Given the description of an element on the screen output the (x, y) to click on. 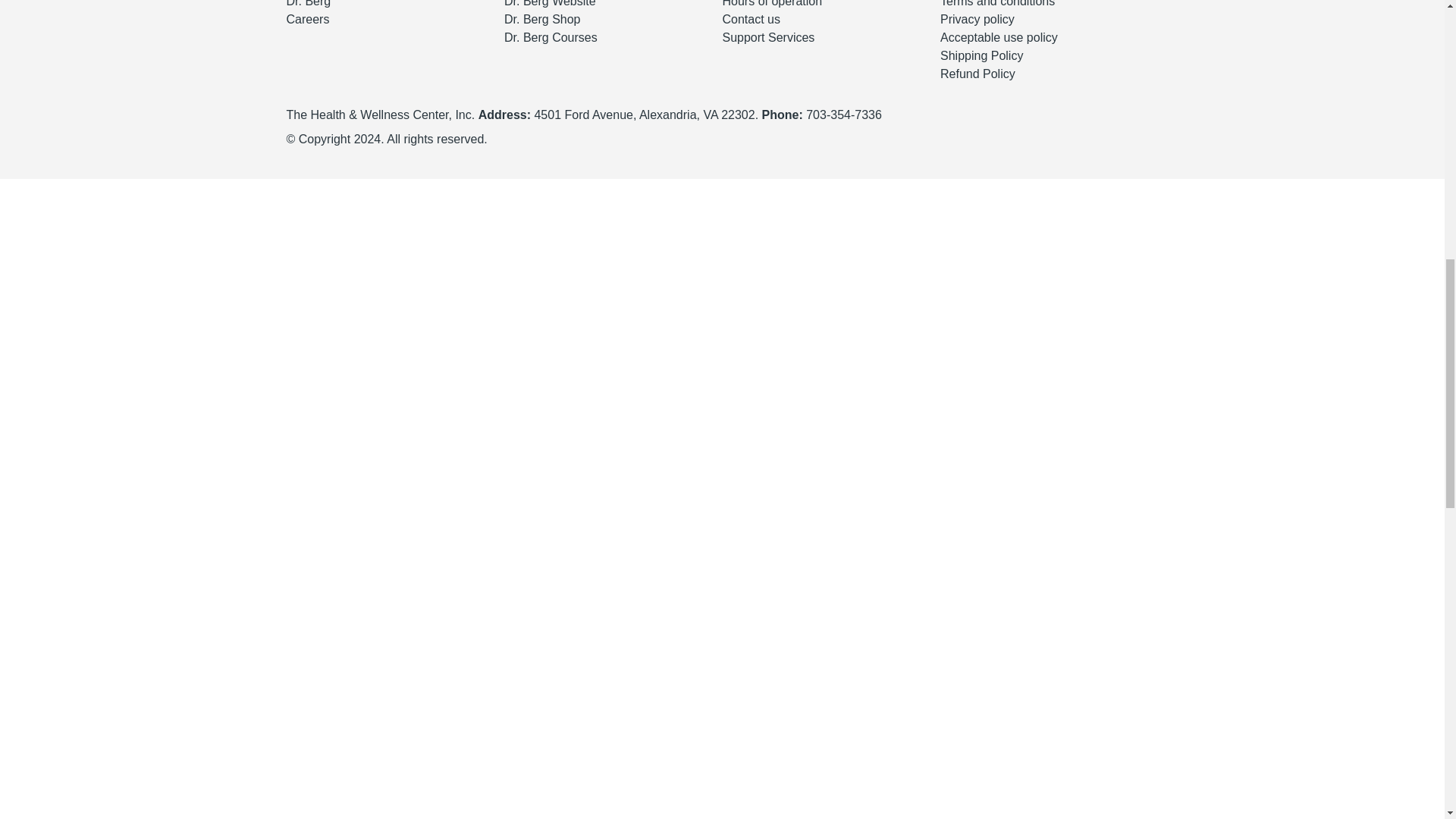
Dr. Berg (308, 3)
Refund Policy (977, 73)
Dr. Berg Shop (541, 19)
Shipping Policy (981, 55)
Careers (308, 19)
Terms and conditions (997, 3)
Acceptable use policy (999, 37)
Dr. Berg Website (549, 3)
Privacy policy (977, 19)
Support Services (767, 37)
